Given the description of an element on the screen output the (x, y) to click on. 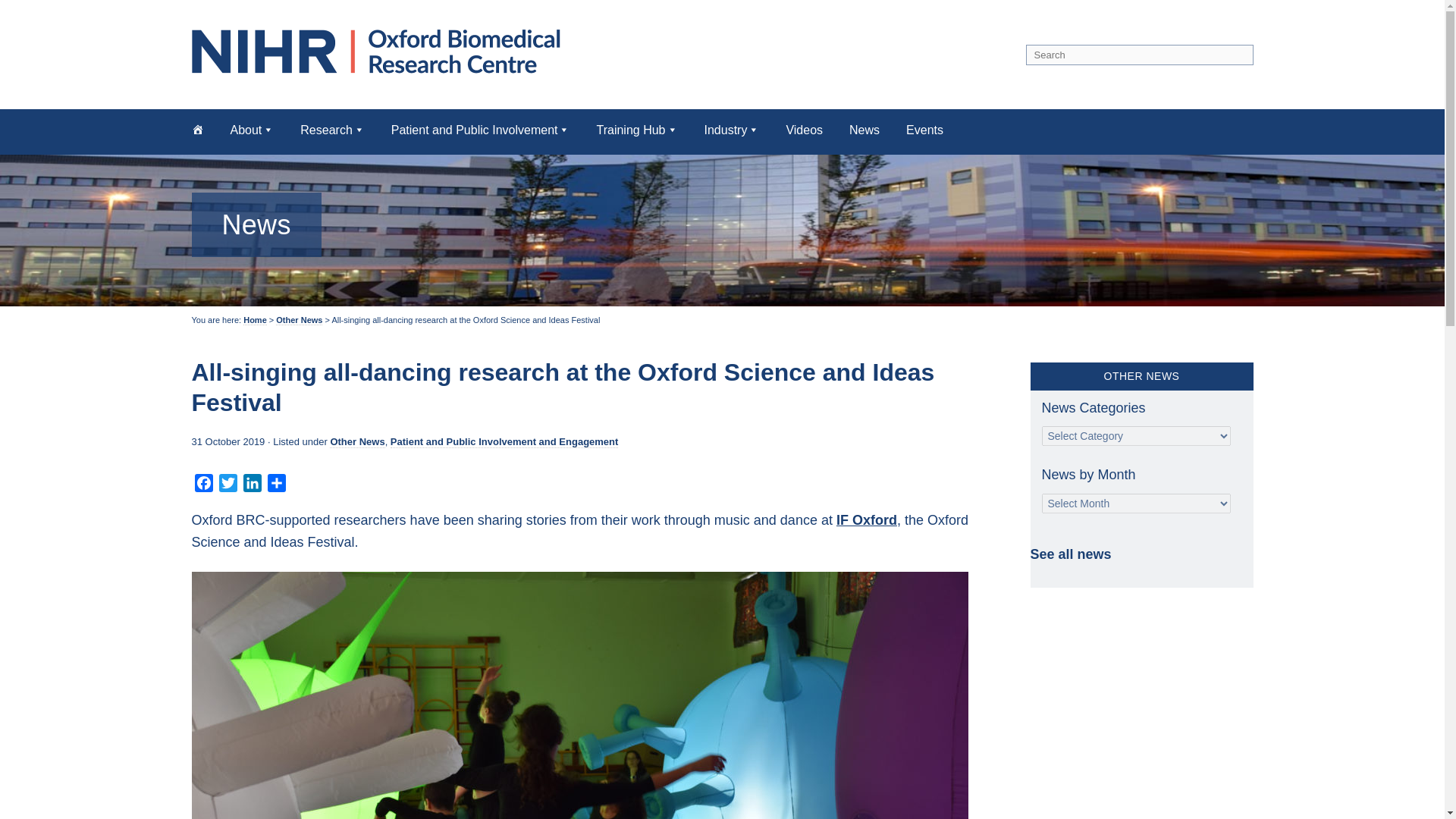
Patient and Public Involvement (480, 129)
About (252, 129)
LinkedIn (251, 485)
Research (331, 129)
NIHR Oxford Biomedical Research Centre (380, 50)
Training Hub (636, 129)
Twitter (227, 485)
Facebook (202, 485)
